Given the description of an element on the screen output the (x, y) to click on. 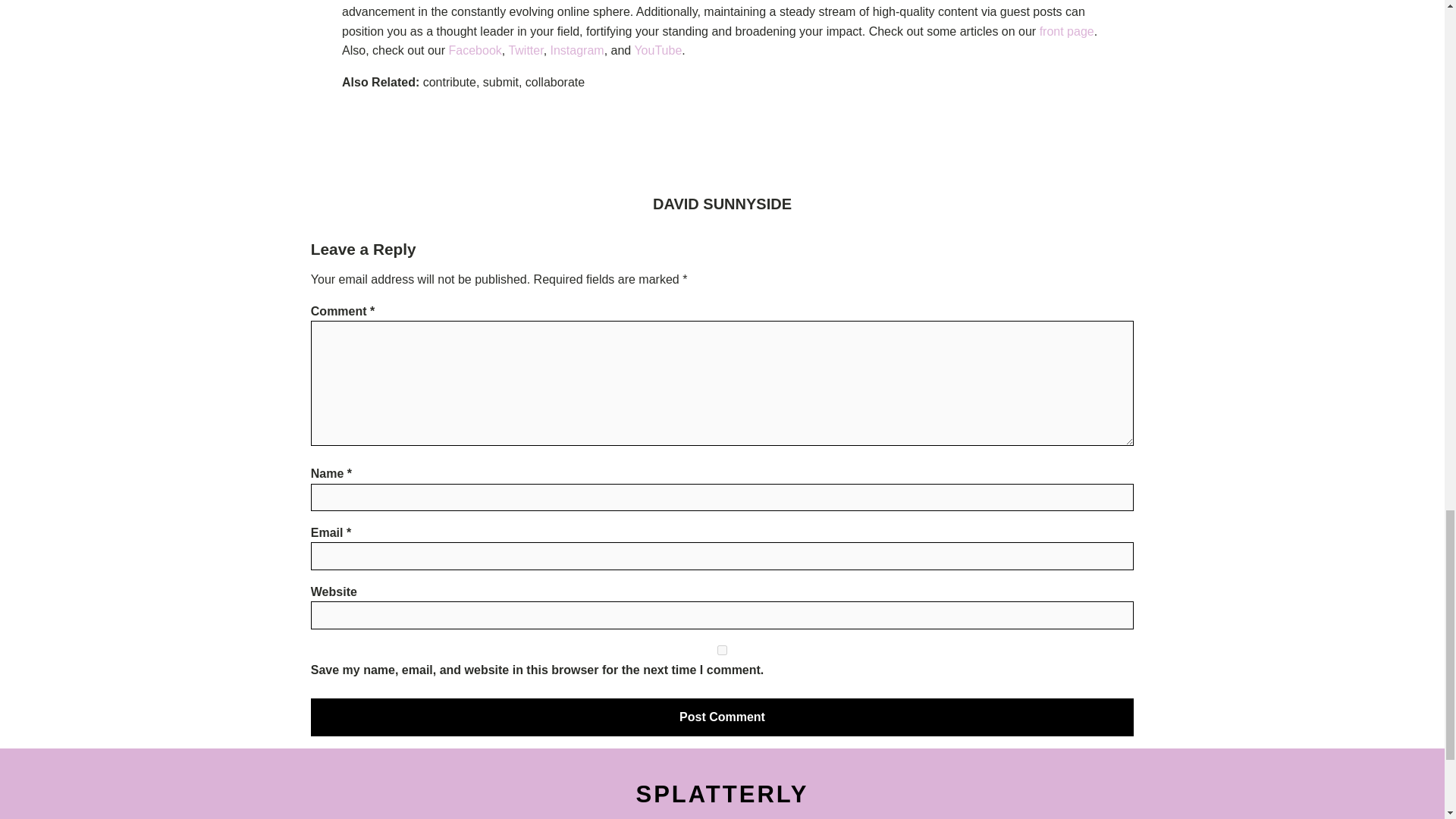
yes (722, 650)
Facebook (475, 50)
Instagram (577, 50)
SPLATTERLY (721, 794)
Post Comment (722, 717)
YouTube (657, 50)
front page (1066, 31)
Post Comment (722, 717)
Twitter (525, 50)
